Given the description of an element on the screen output the (x, y) to click on. 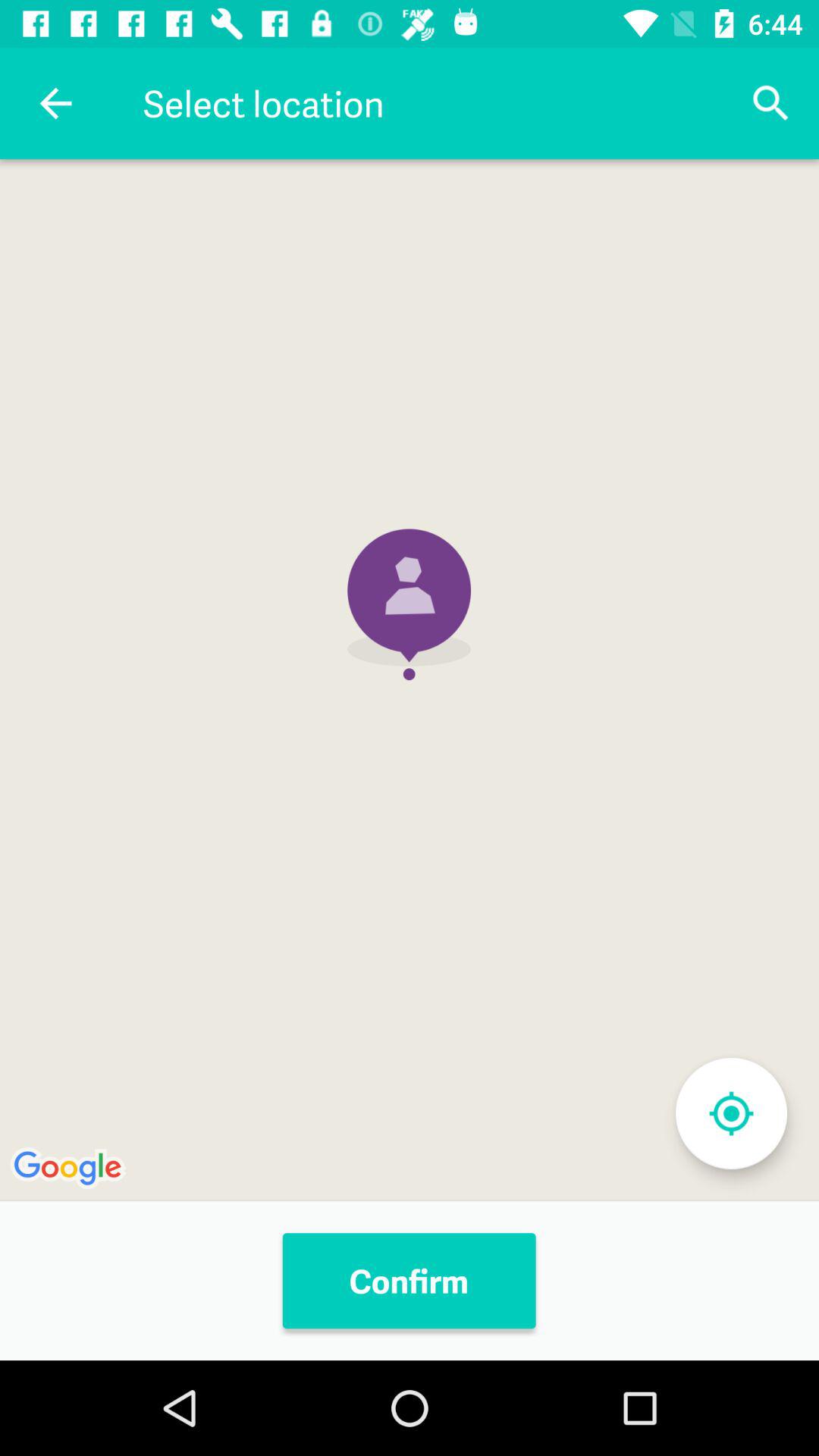
press the item at the bottom right corner (731, 1113)
